Given the description of an element on the screen output the (x, y) to click on. 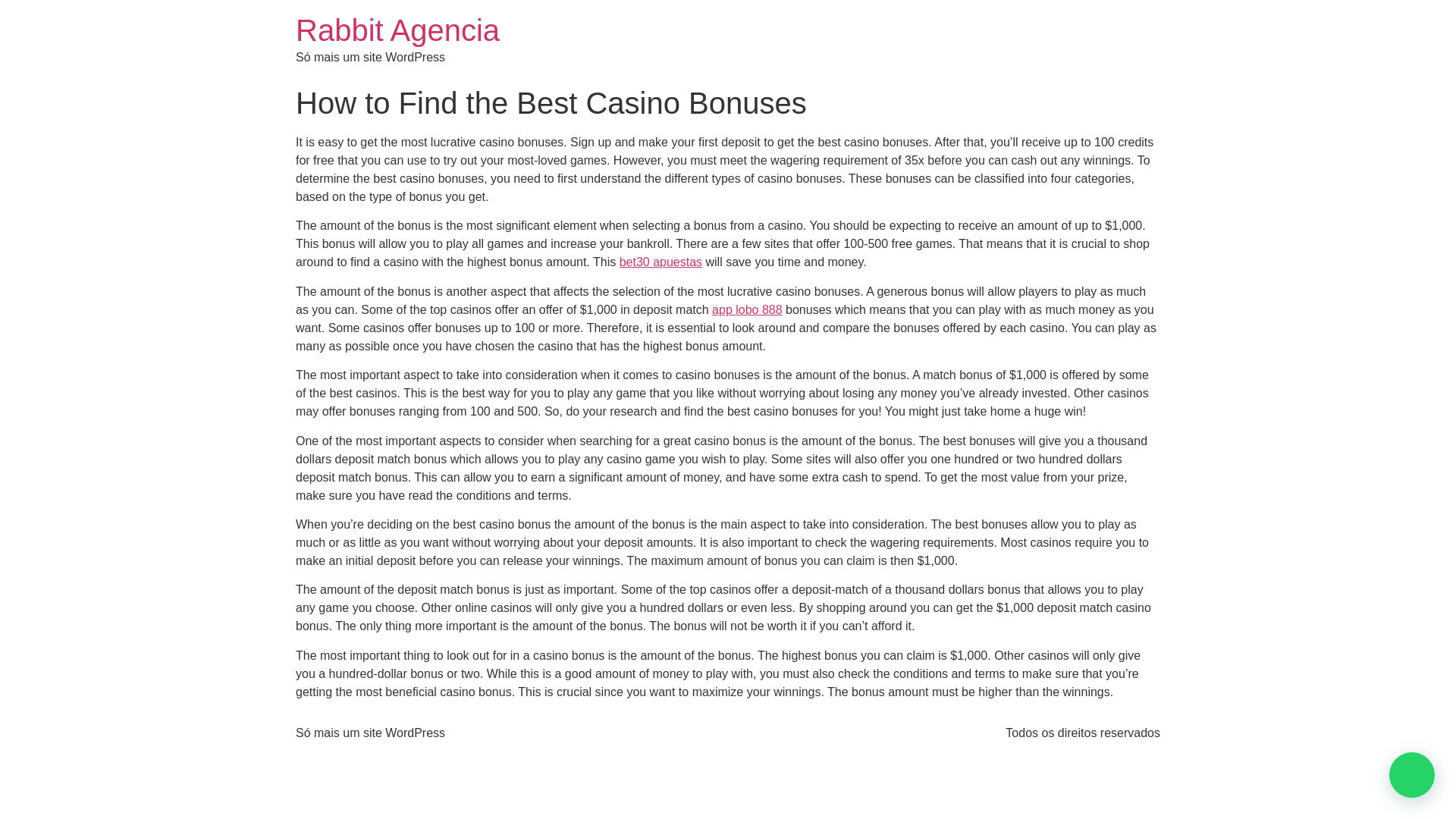
Rabbit Agencia (397, 29)
Inicial (397, 29)
bet30 apuestas (660, 261)
app lobo 888 (747, 309)
